Given the description of an element on the screen output the (x, y) to click on. 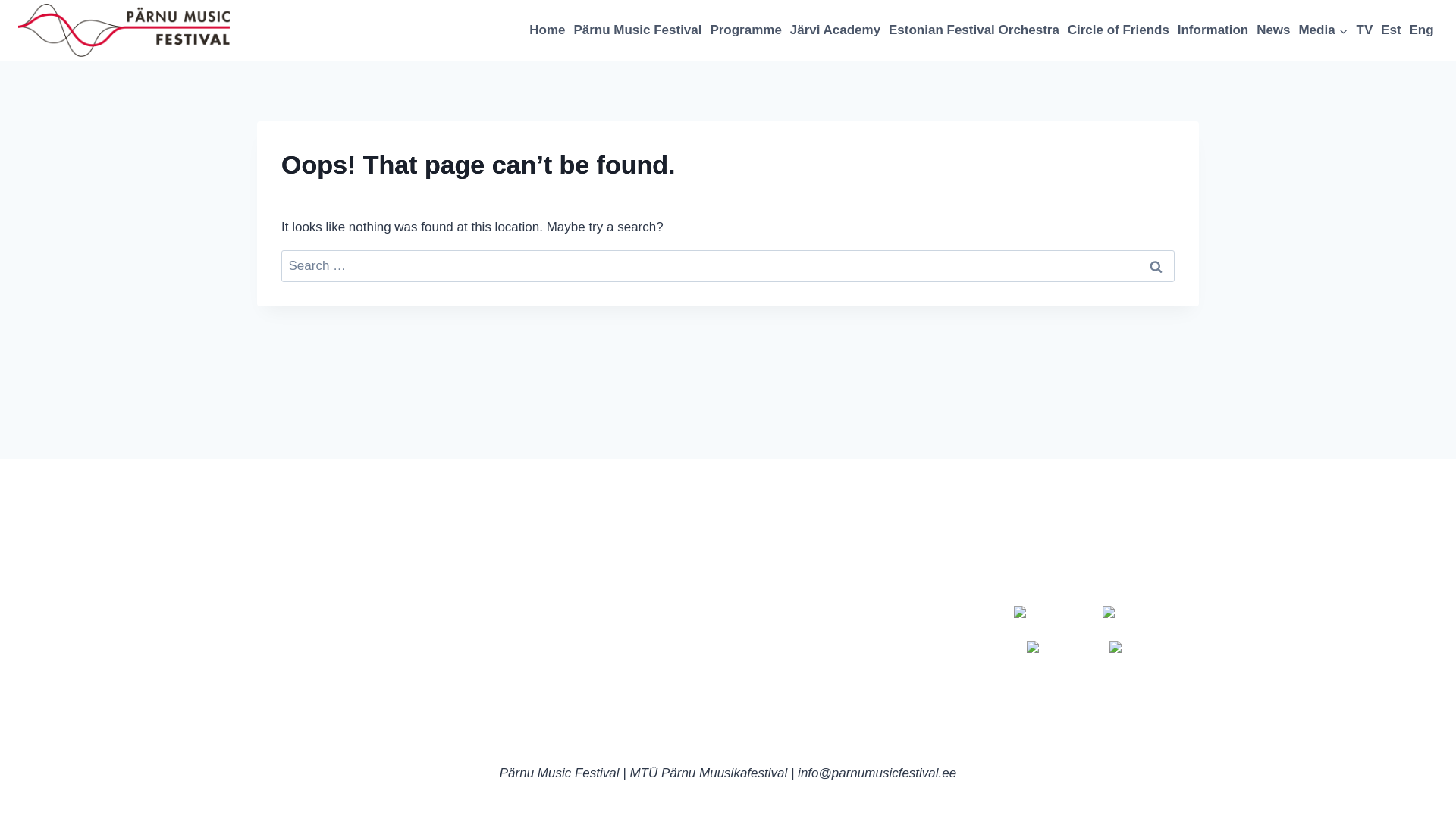
Instagram (1137, 613)
Home (547, 30)
Eng (1421, 30)
Estonian Festival Orchestra (974, 30)
Information (606, 634)
YouTube (1057, 647)
Twitter (1133, 648)
Search (1155, 266)
News (1273, 30)
TV (1364, 30)
Information (1212, 30)
Est (1391, 30)
Media (1323, 30)
Search (1155, 266)
Search (1155, 266)
